Given the description of an element on the screen output the (x, y) to click on. 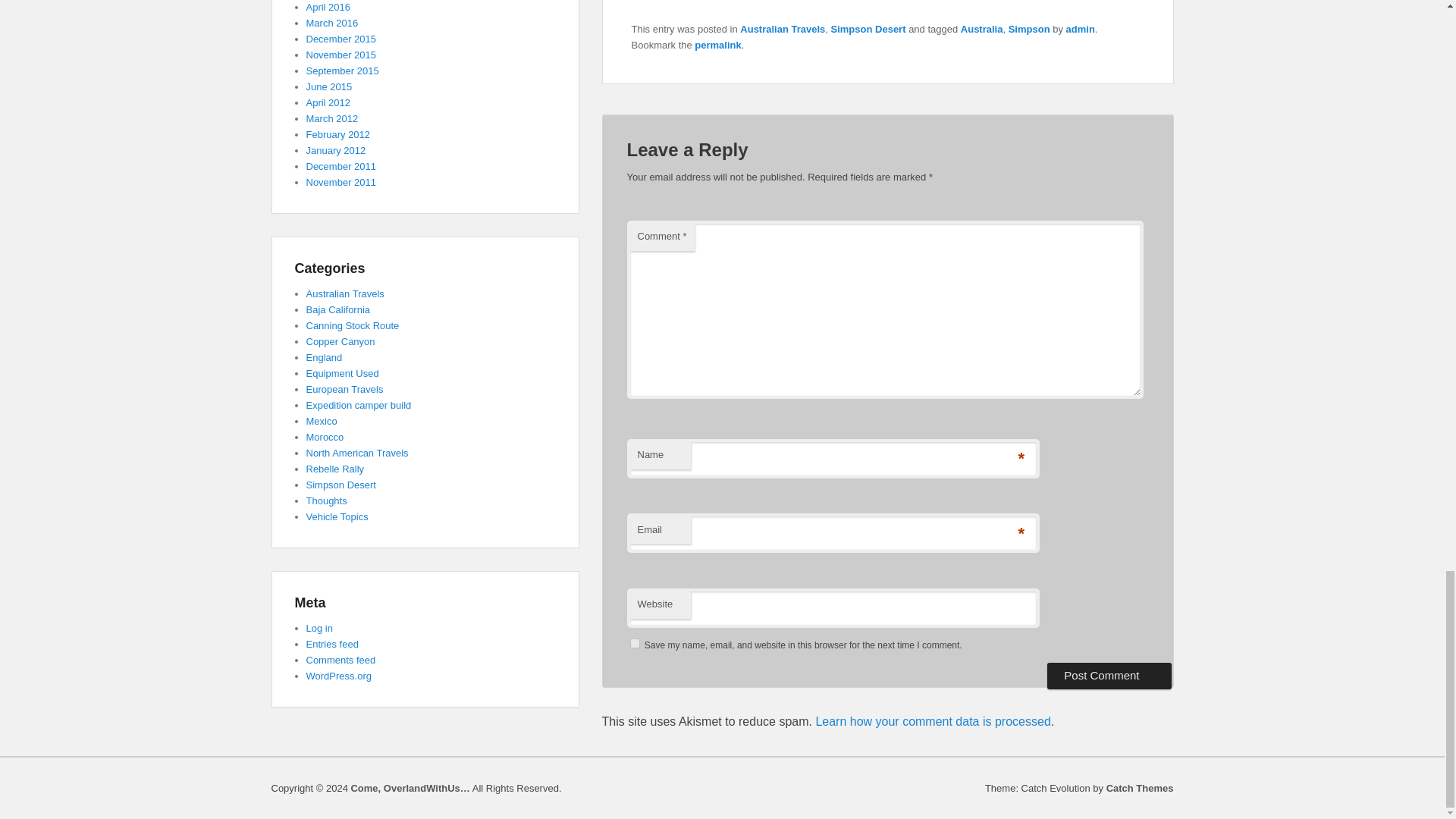
Australia (981, 29)
admin (1079, 29)
Learn how your comment data is processed (932, 721)
Post Comment (1108, 675)
permalink (717, 44)
Post Comment (1108, 675)
yes (633, 643)
Australian Travels (782, 29)
Simpson (1029, 29)
Catch Themes (1139, 787)
Simpson Desert (868, 29)
